Given the description of an element on the screen output the (x, y) to click on. 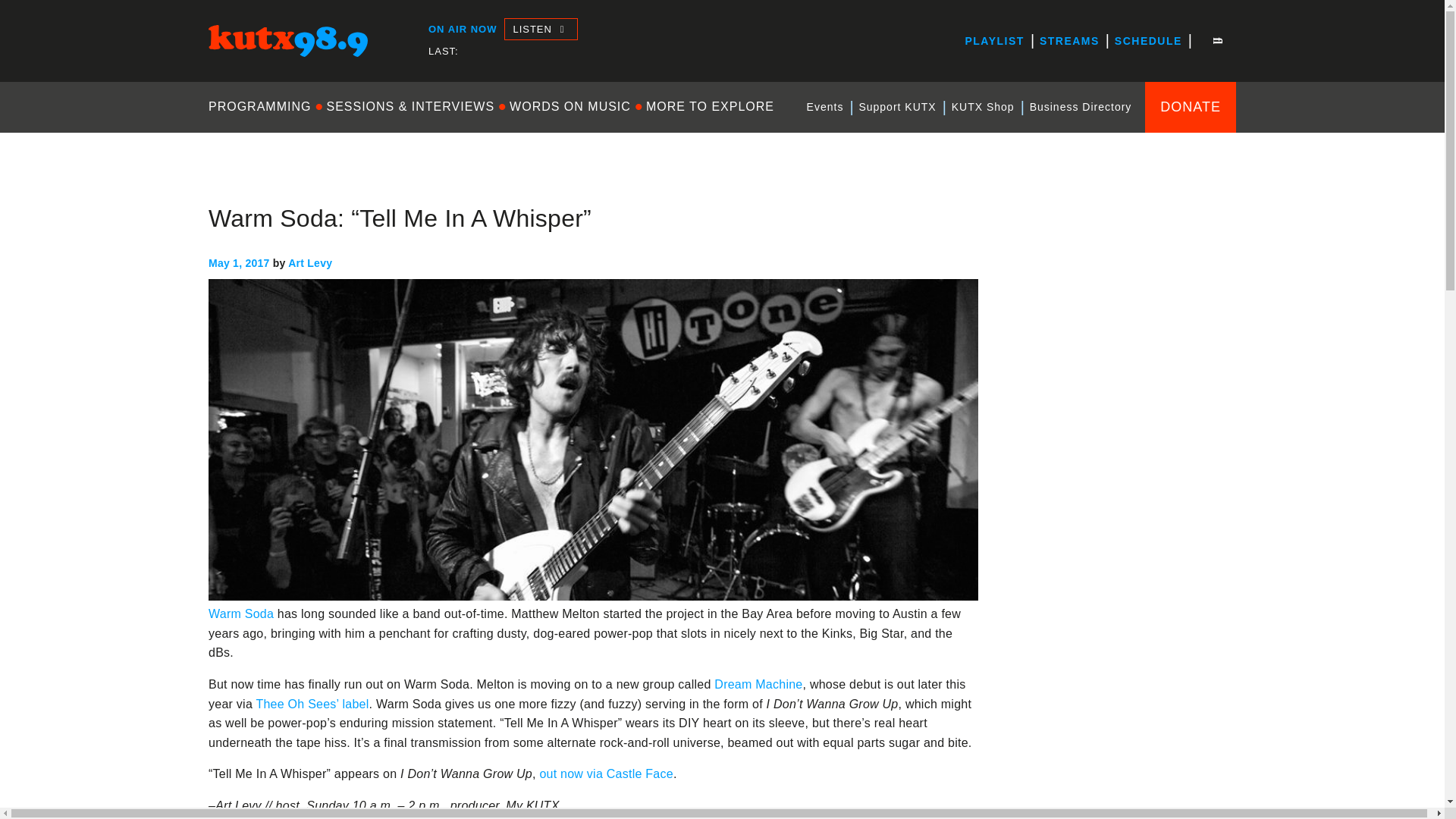
WORDS ON MUSIC (570, 106)
KUTX (224, 69)
PROGRAMMING (263, 106)
Support KUTX (896, 106)
3rd party ad content (1122, 292)
LISTEN (539, 29)
SCHEDULE (1147, 40)
DONATE (1190, 106)
Events (825, 106)
KUTX Shop (982, 106)
3rd party ad content (1122, 701)
Business Directory (1081, 106)
STREAMS (1069, 40)
3rd party ad content (1122, 497)
MORE TO EXPLORE (710, 106)
